Given the description of an element on the screen output the (x, y) to click on. 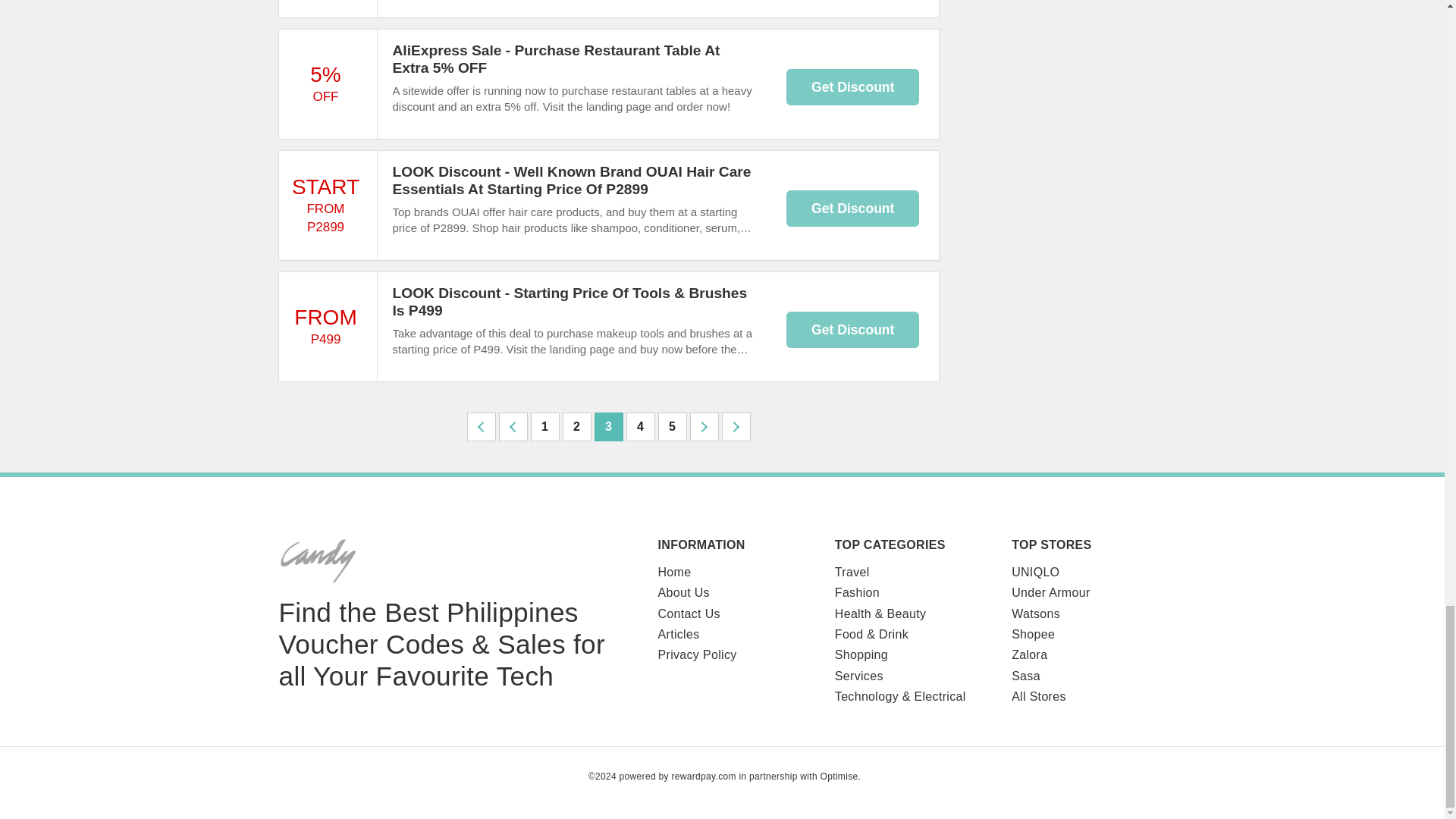
Page 2 (576, 426)
Next Page (704, 426)
Previous Page (481, 426)
Page 1 (545, 426)
Page 4 (640, 426)
Last Page (736, 426)
Page 5 (672, 426)
Page 3 (608, 426)
First Page (513, 426)
